Given the description of an element on the screen output the (x, y) to click on. 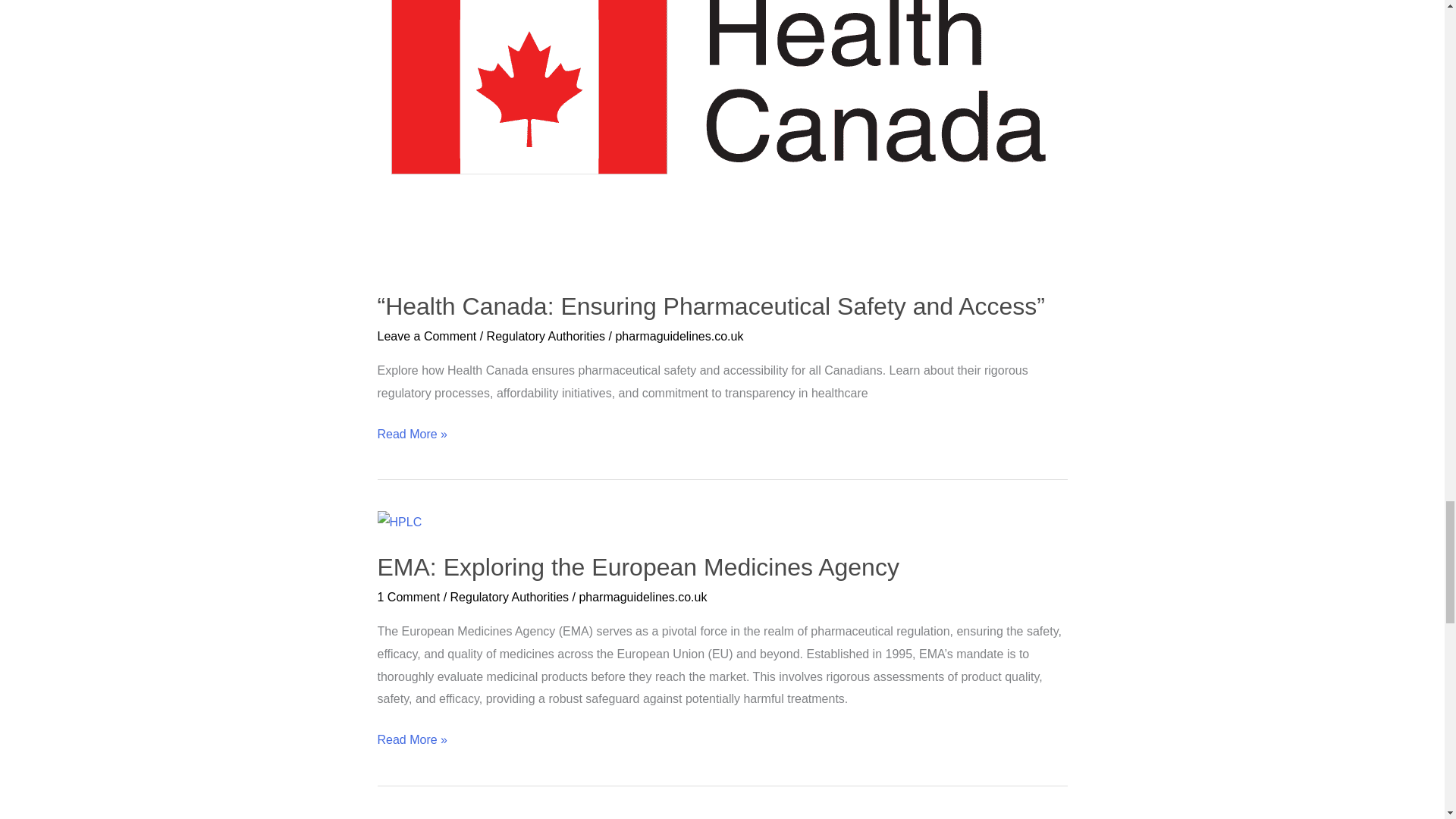
View all posts by pharmaguidelines.co.uk (678, 336)
View all posts by pharmaguidelines.co.uk (642, 596)
